Given the description of an element on the screen output the (x, y) to click on. 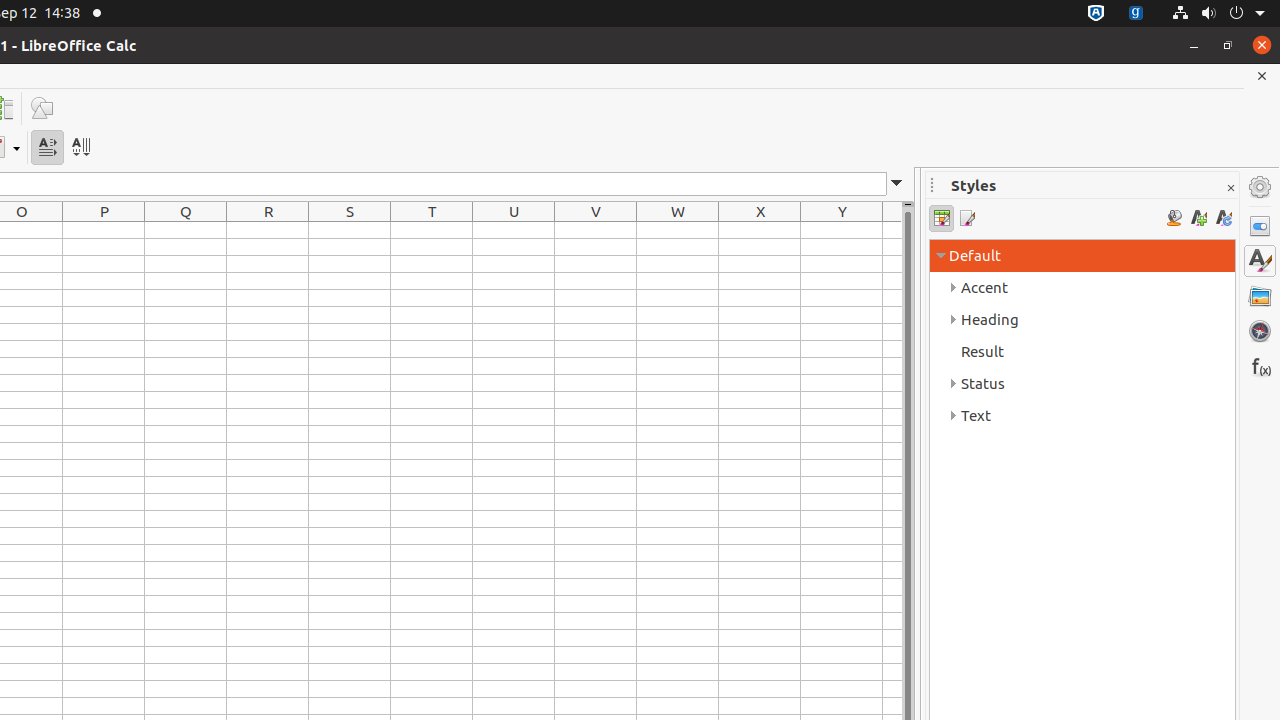
:1.21/StatusNotifierItem Element type: menu (1136, 13)
Z1 Element type: table-cell (892, 230)
Gallery Element type: radio-button (1260, 296)
U1 Element type: table-cell (514, 230)
S1 Element type: table-cell (350, 230)
